Given the description of an element on the screen output the (x, y) to click on. 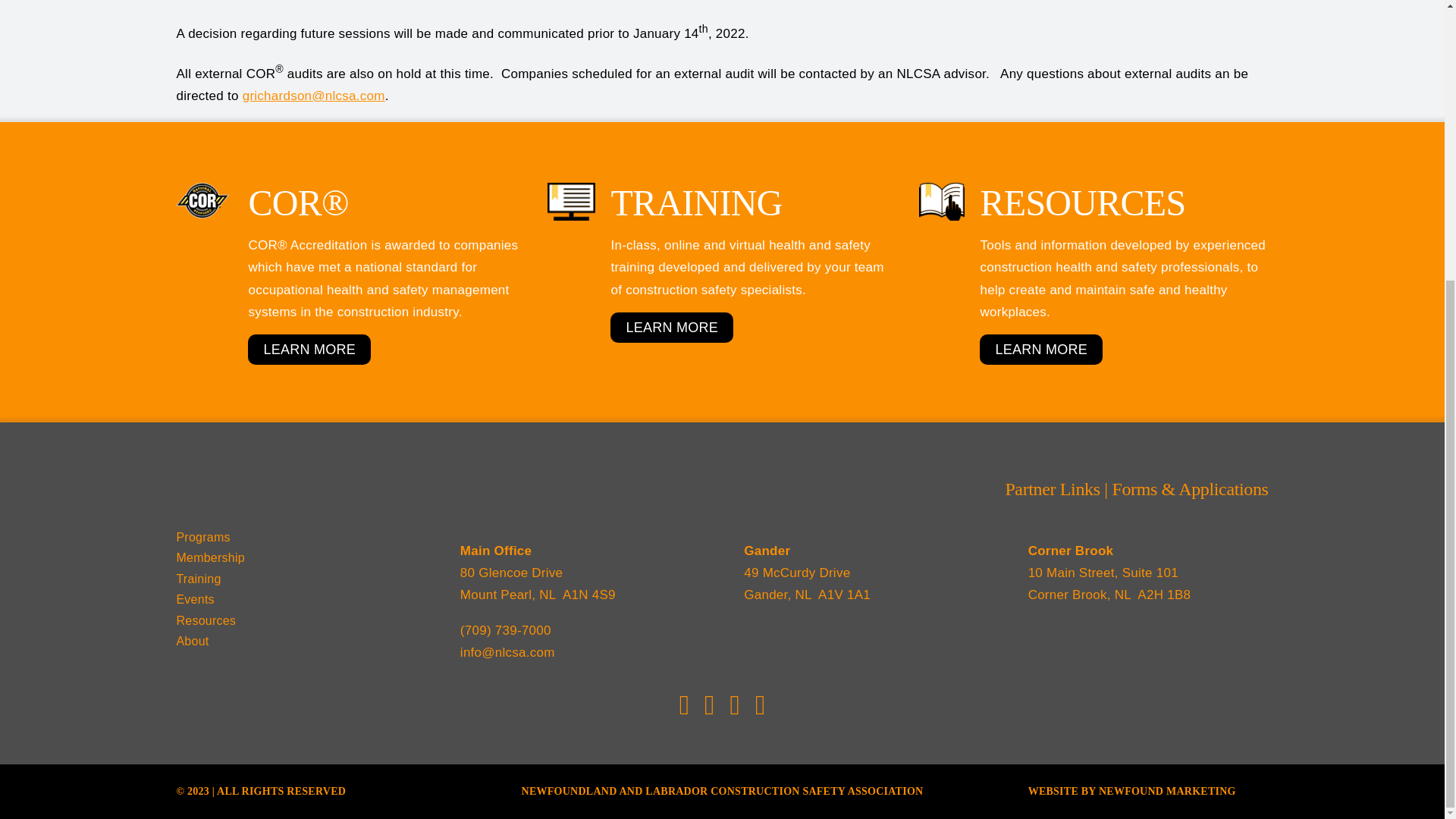
LEARN MORE (1040, 349)
LEARN MORE (671, 327)
Partner Links (1051, 488)
TRAINING (664, 202)
RESOURCES (1051, 202)
Membership (296, 557)
Programs (296, 537)
LEARN MORE (309, 349)
